Given the description of an element on the screen output the (x, y) to click on. 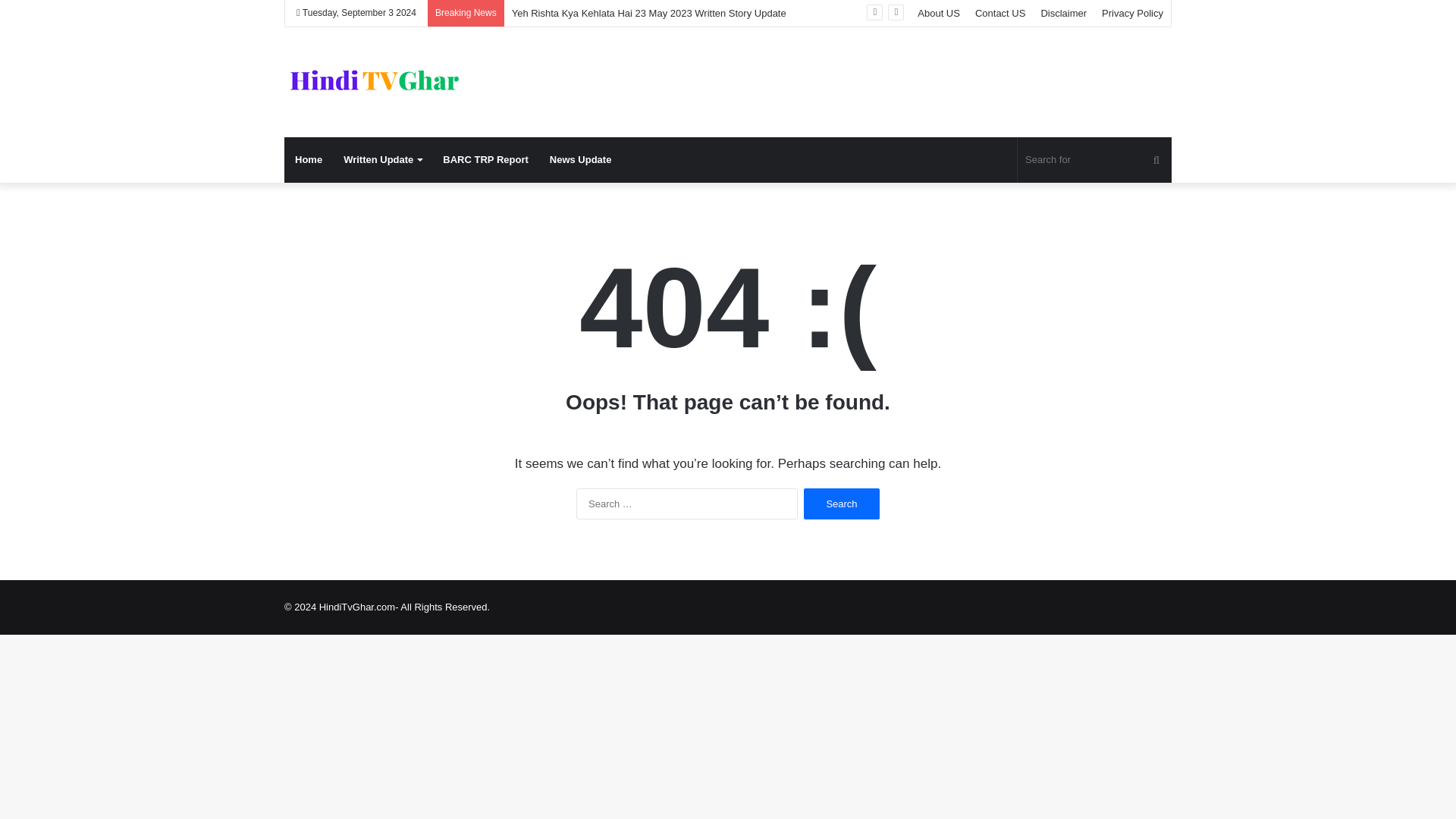
About US (939, 13)
Yeh Rishta Kya Kehlata Hai 23 May 2023 Written Story Update (649, 12)
Search (841, 503)
Search (841, 503)
Disclaimer (1063, 13)
Written Update (382, 159)
Home (308, 159)
Contact US (1000, 13)
Privacy Policy (1132, 13)
Latest Hindi TV Serials Written Episode And News Updates (375, 82)
